Given the description of an element on the screen output the (x, y) to click on. 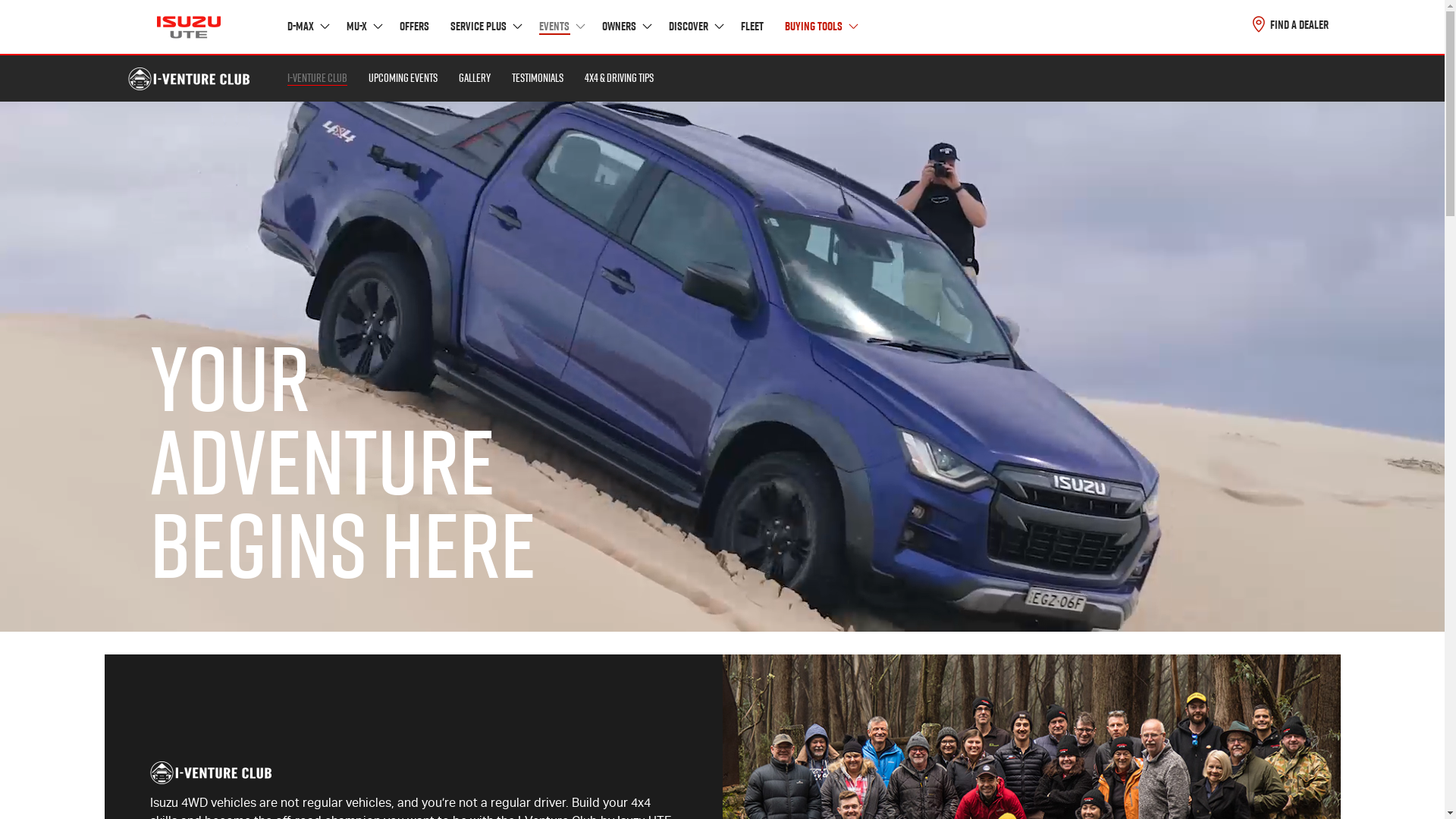
MU-X Element type: text (362, 26)
Events Element type: text (559, 26)
Buying Tools Element type: text (819, 26)
4x4 & Driving Tips Element type: text (617, 78)
Fleet Element type: text (751, 26)
Testimonials Element type: text (536, 78)
D-MAX Element type: text (306, 26)
Owners Element type: text (625, 26)
I-Venture Club Element type: text (316, 78)
Offers Element type: text (413, 26)
Discover Element type: text (694, 26)
Upcoming Events Element type: text (402, 78)
Gallery Element type: text (473, 78)
FIND A DEALER Element type: text (1290, 24)
Service Plus Element type: text (484, 26)
